Given the description of an element on the screen output the (x, y) to click on. 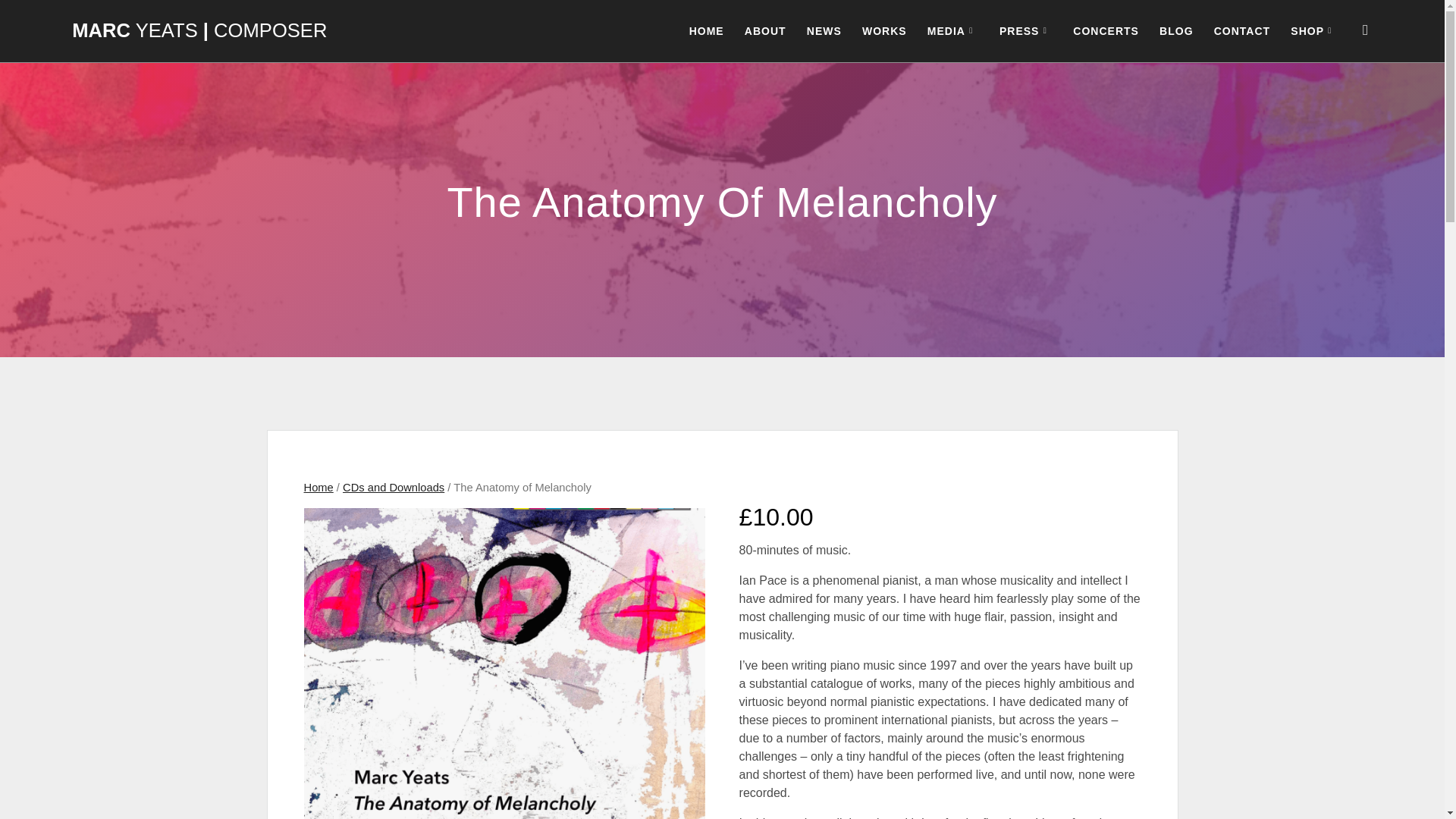
MEDIA (952, 30)
CDs and Downloads (393, 487)
ABOUT (765, 30)
PRESS (1025, 30)
NEWS (823, 30)
SHOP (1313, 30)
WORKS (884, 30)
CONCERTS (1105, 30)
HOME (705, 30)
CONTACT (1241, 30)
BLOG (1175, 30)
Home (317, 487)
Screen Shot 2020-02-03 at 13.51.59 (503, 663)
